Given the description of an element on the screen output the (x, y) to click on. 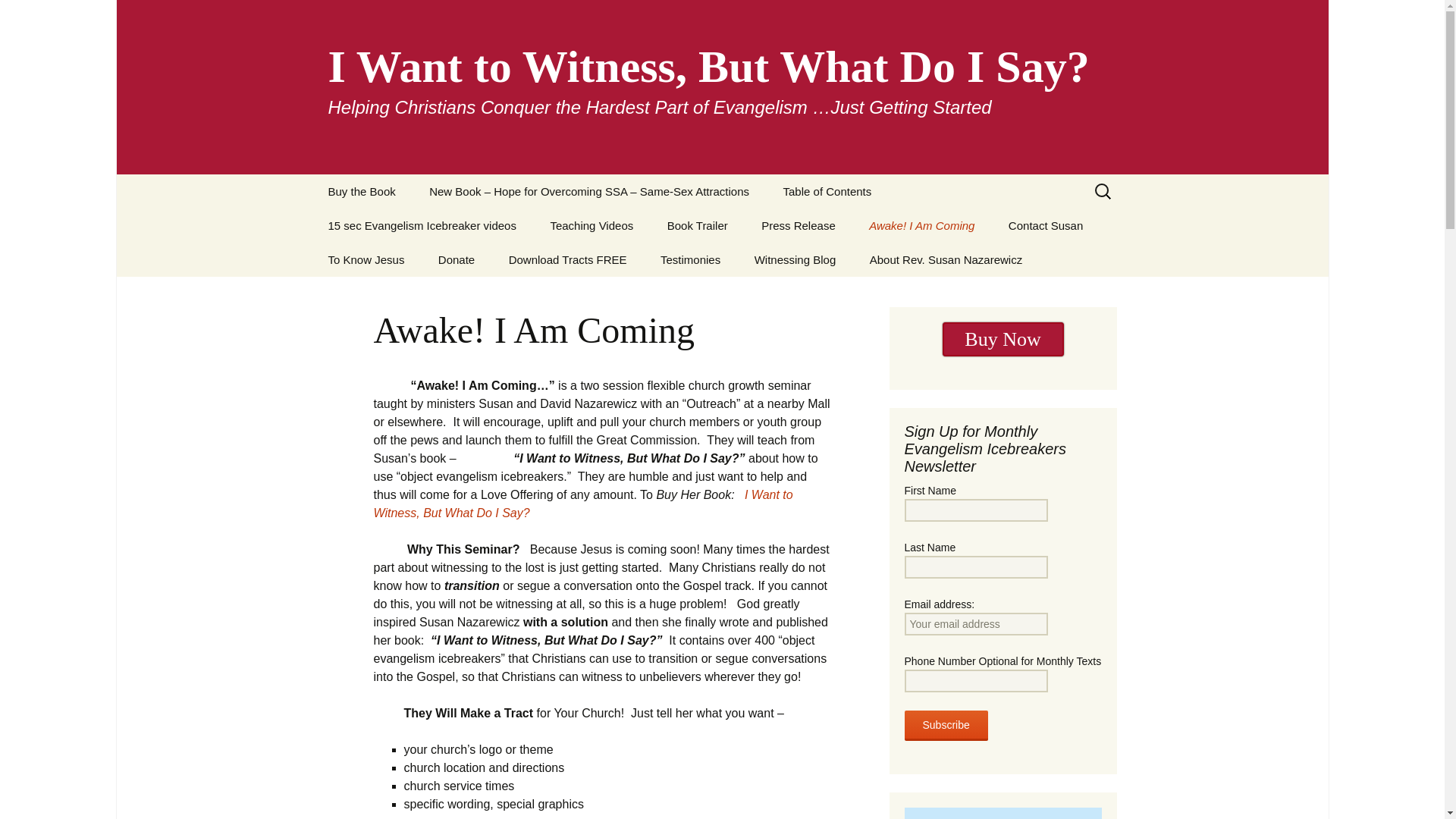
Paraguay Missions Trip (388, 225)
Book Trailer (697, 225)
Contact Susan (1044, 225)
I Want to Witness, But What Do I Say? (582, 503)
Why Christians Should Want to Pray in Tongues (388, 304)
on Amazon - Get ready to be a hero and win the lost! (1002, 339)
Download Tracts FREE (567, 259)
Unmarried Evangelists for Christ (929, 265)
About Rev. Susan Nazarewicz (945, 259)
Teaching Videos (590, 225)
Subscribe (945, 725)
Search (18, 15)
Video Clips of Icebreakers (727, 265)
